Given the description of an element on the screen output the (x, y) to click on. 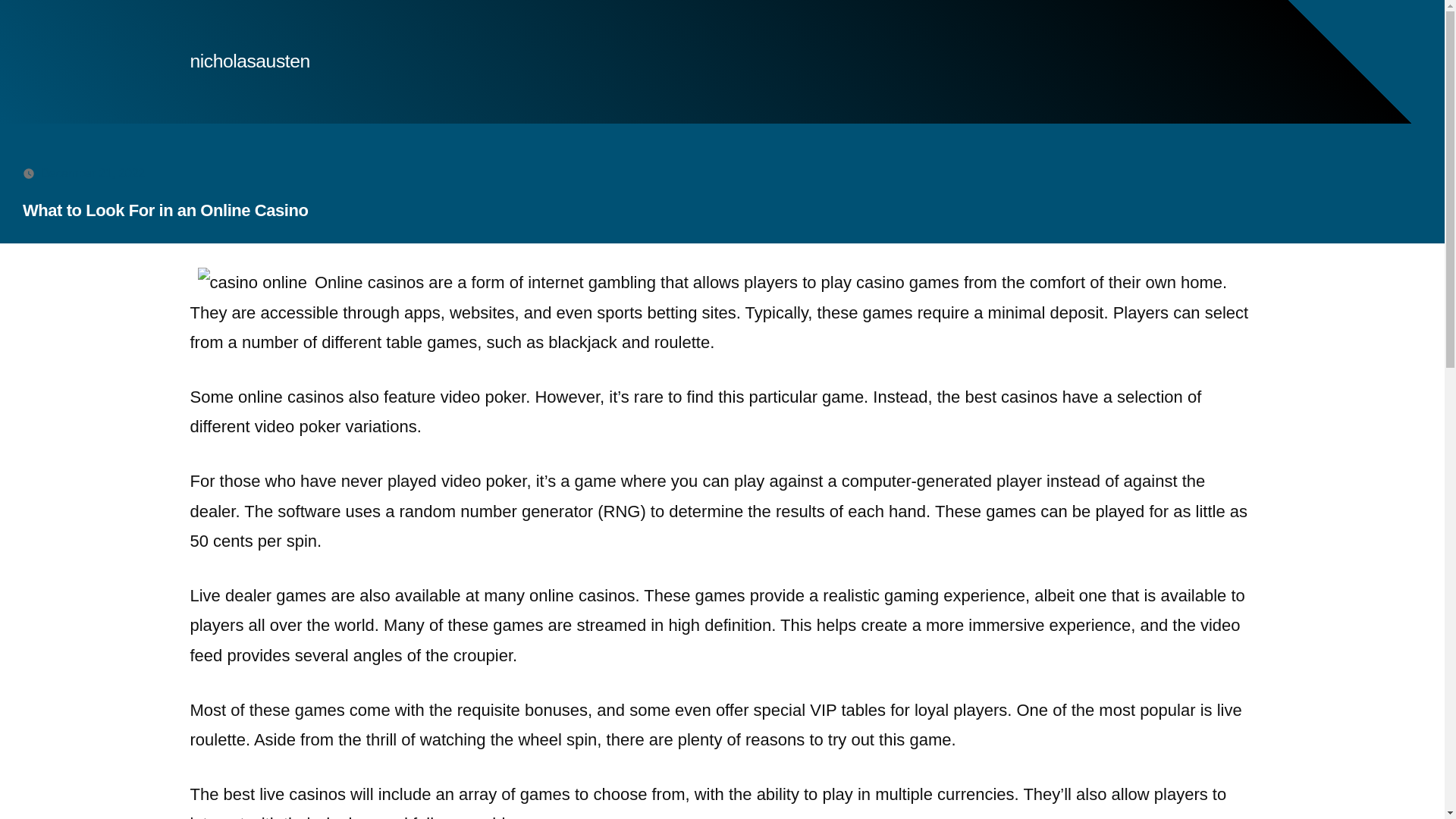
December 21, 2022 (92, 173)
nicholasausten (248, 60)
